Given the description of an element on the screen output the (x, y) to click on. 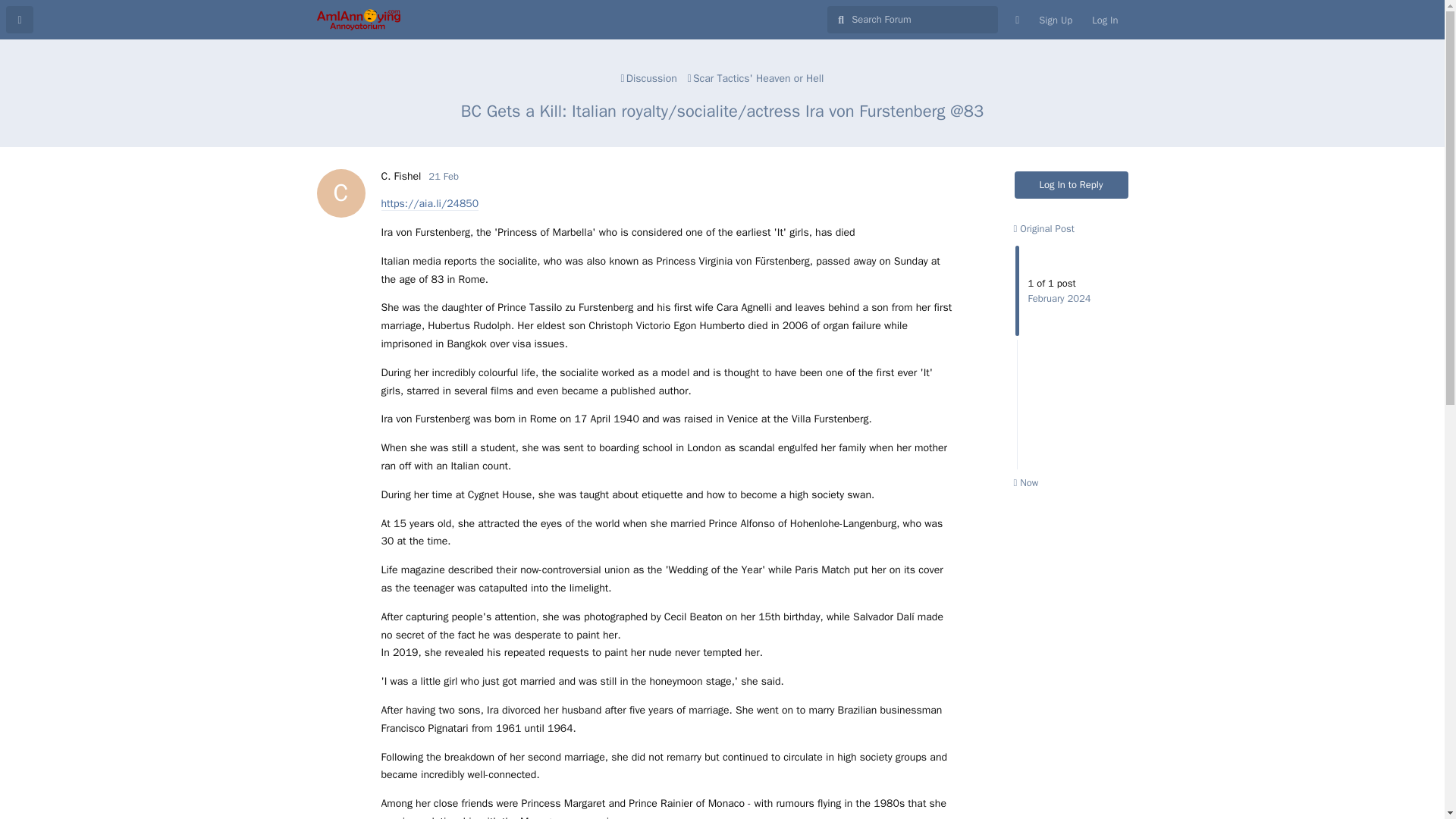
Now (1025, 481)
Sign Up (1055, 19)
Scar Tactics' Heaven or Hell (755, 78)
Discussion (648, 78)
Log In (1103, 19)
21 Feb (400, 175)
Wednesday, February 21, 2024 11:19 AM (443, 175)
Log In to Reply (443, 175)
Original Post (1071, 185)
